Given the description of an element on the screen output the (x, y) to click on. 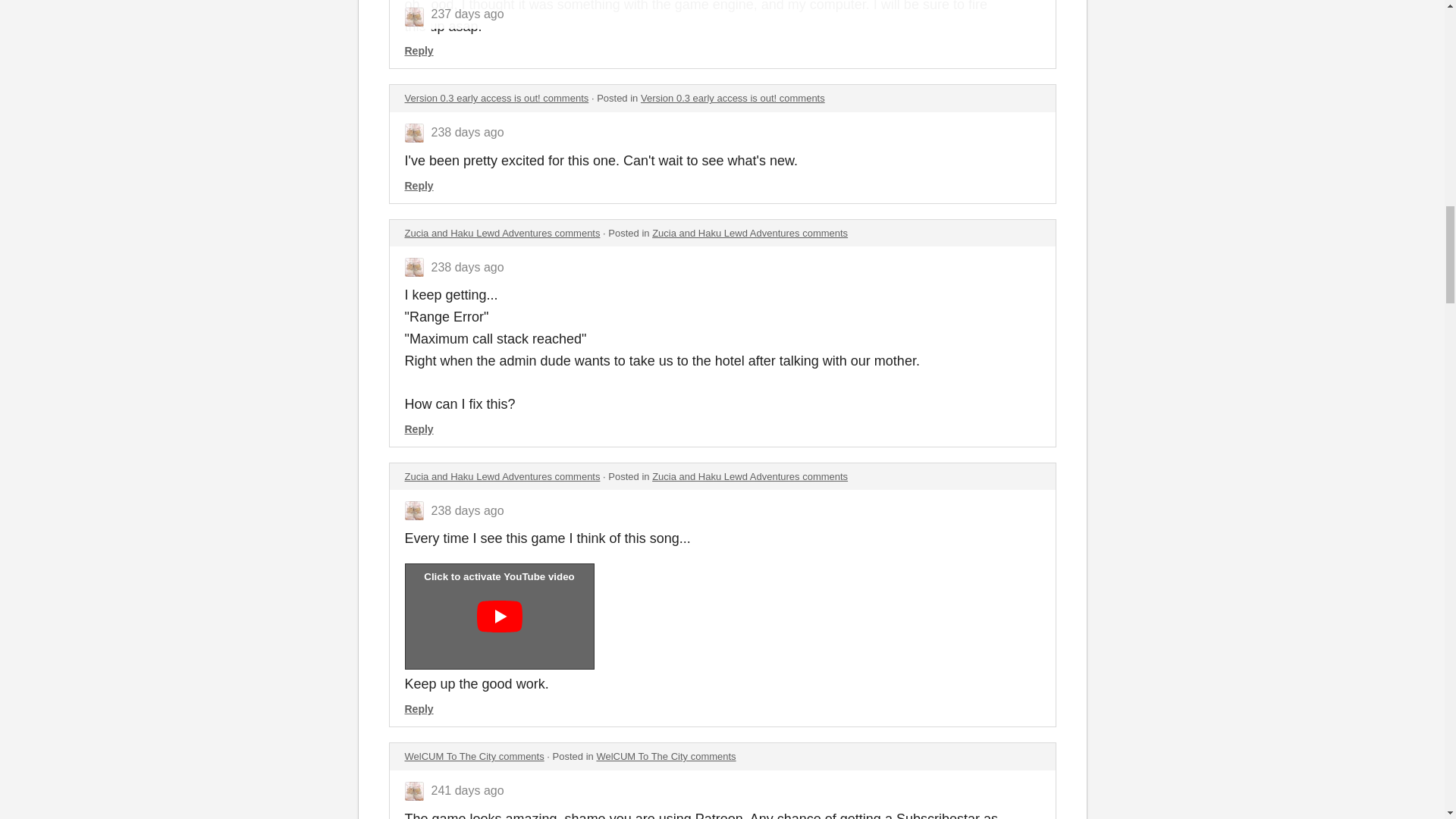
2023-12-06 11:49:11 (466, 789)
2023-12-10 04:09:44 (466, 132)
2023-12-10 03:03:36 (466, 267)
2023-12-09 07:49:47 (466, 510)
